Given the description of an element on the screen output the (x, y) to click on. 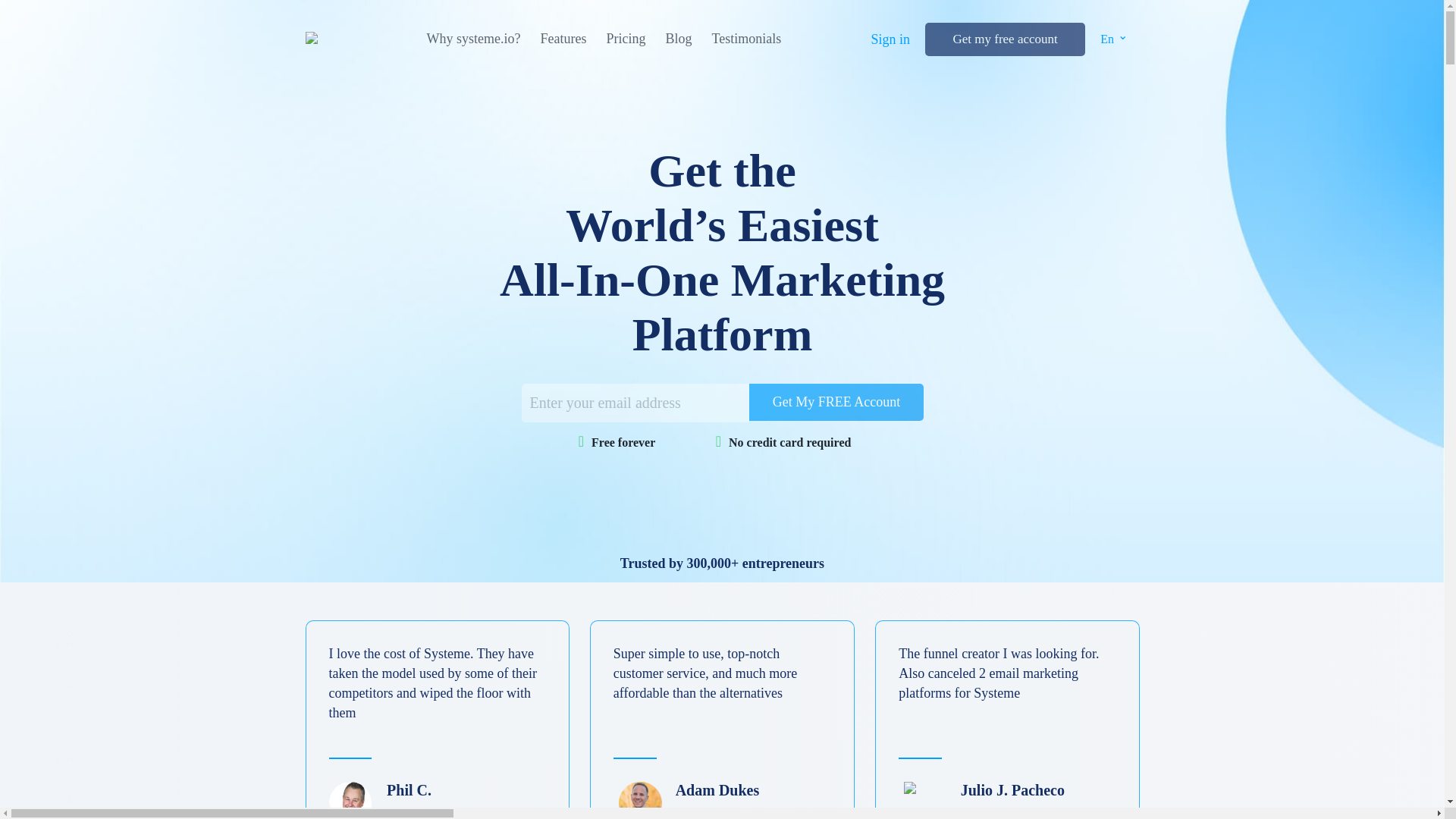
Sign in (1453, 53)
Sign in (890, 39)
Testimonials (1453, 125)
Why systeme.io? (472, 38)
Features (563, 38)
Pricing (1453, 93)
Blog (678, 38)
Why systeme.io? (1453, 53)
Get my free account (1004, 39)
Testimonials (745, 38)
Features (1453, 77)
Pricing (625, 38)
Blog (1453, 109)
